Given the description of an element on the screen output the (x, y) to click on. 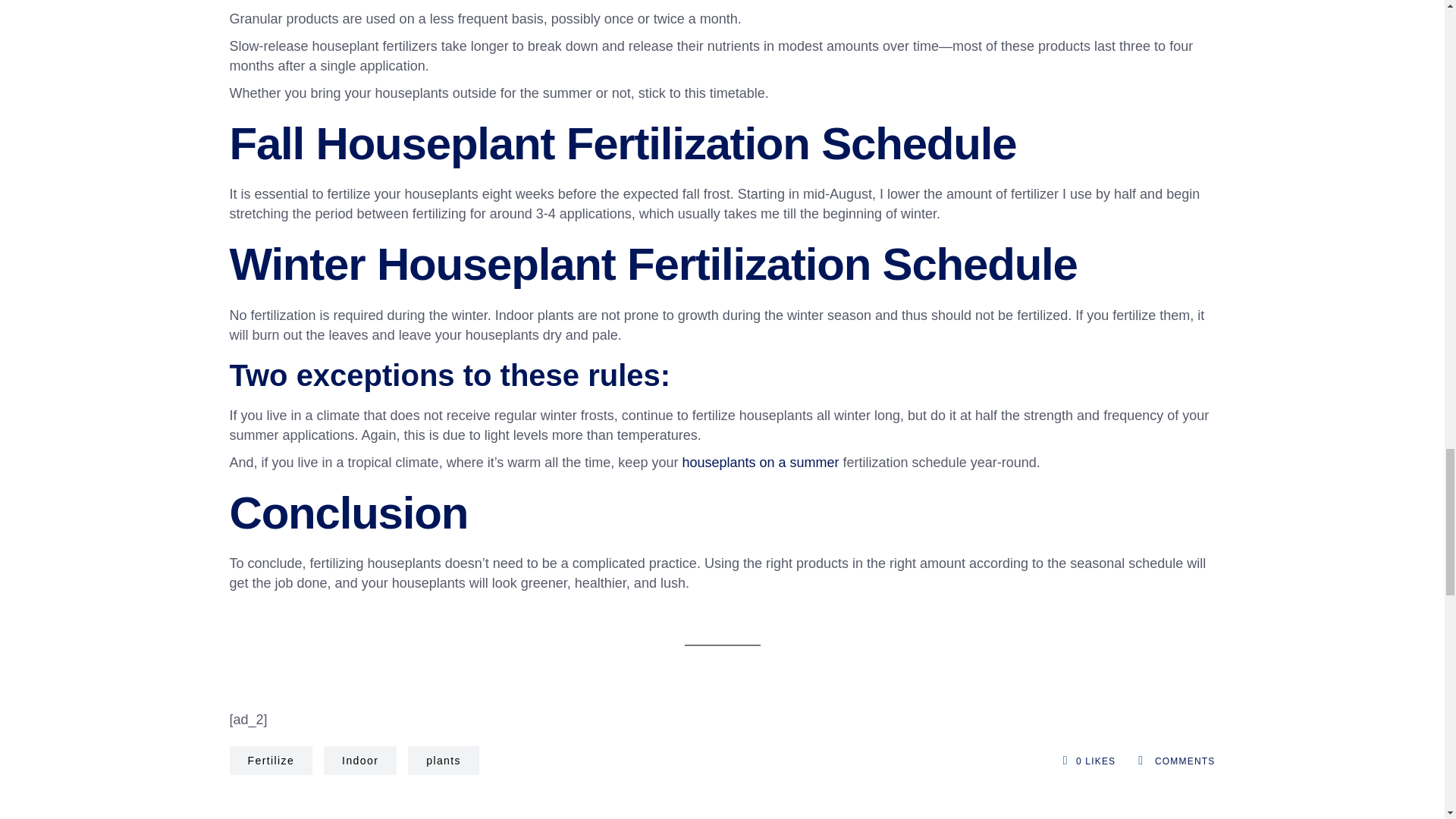
Like this (1071, 760)
